Given the description of an element on the screen output the (x, y) to click on. 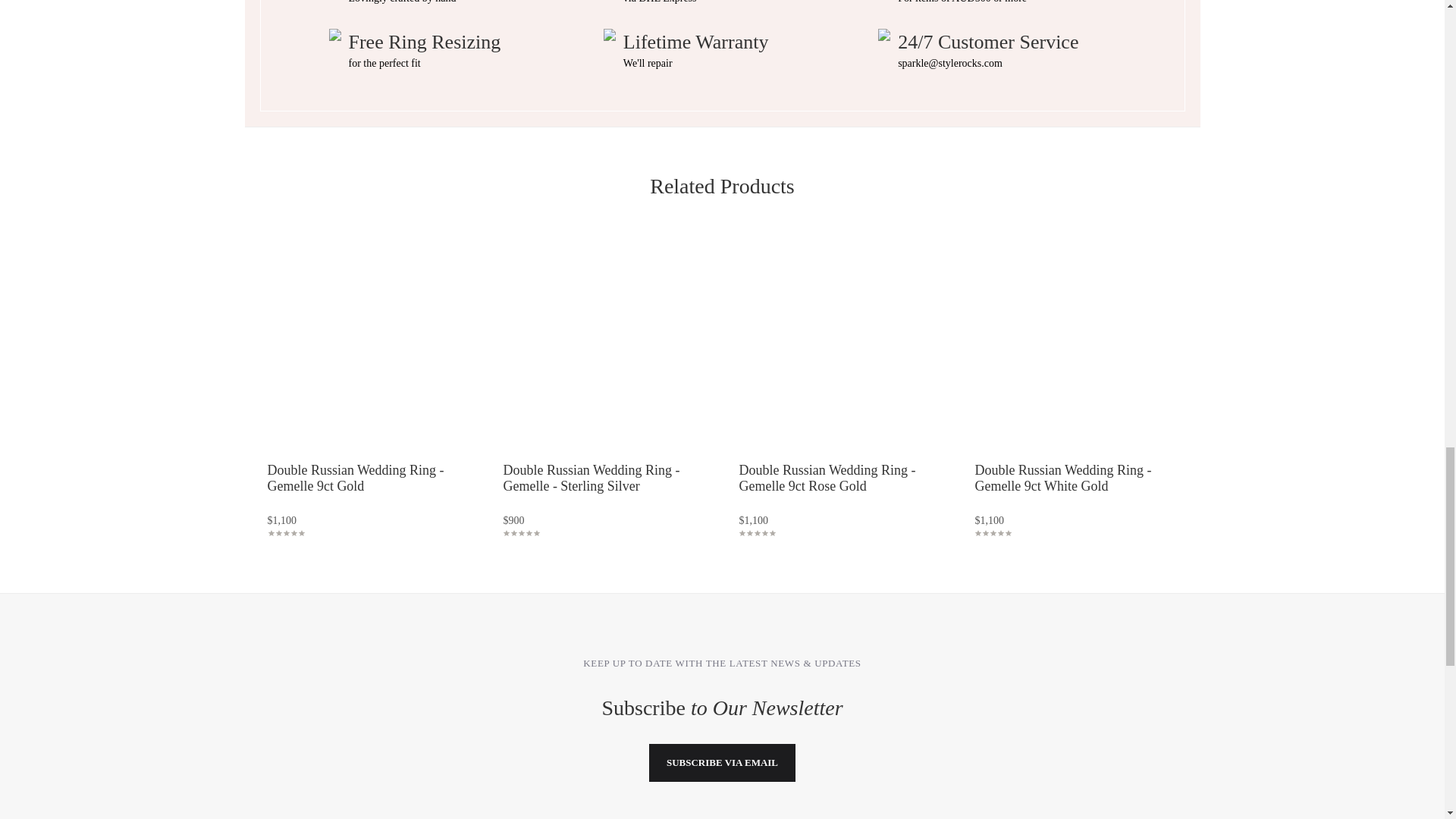
Double Russian Wedding Ring - Gemelle - Sterling Silver (603, 349)
Double Russian Wedding Ring - Gemelle 9ct Rose Gold (839, 349)
Double Russian Wedding Ring - Gemelle 9ct Rose Gold (826, 478)
Double Russian Wedding Ring - Gemelle 9ct White Gold (1062, 478)
Double Russian Wedding Ring - Gemelle 9ct Gold (355, 478)
Double Russian Wedding Ring - Gemelle 9ct Gold (367, 349)
Double Russian Wedding Ring - Gemelle - Sterling Silver (590, 478)
Double Russian Wedding Ring - Gemelle 9ct White Gold (1075, 349)
